Given the description of an element on the screen output the (x, y) to click on. 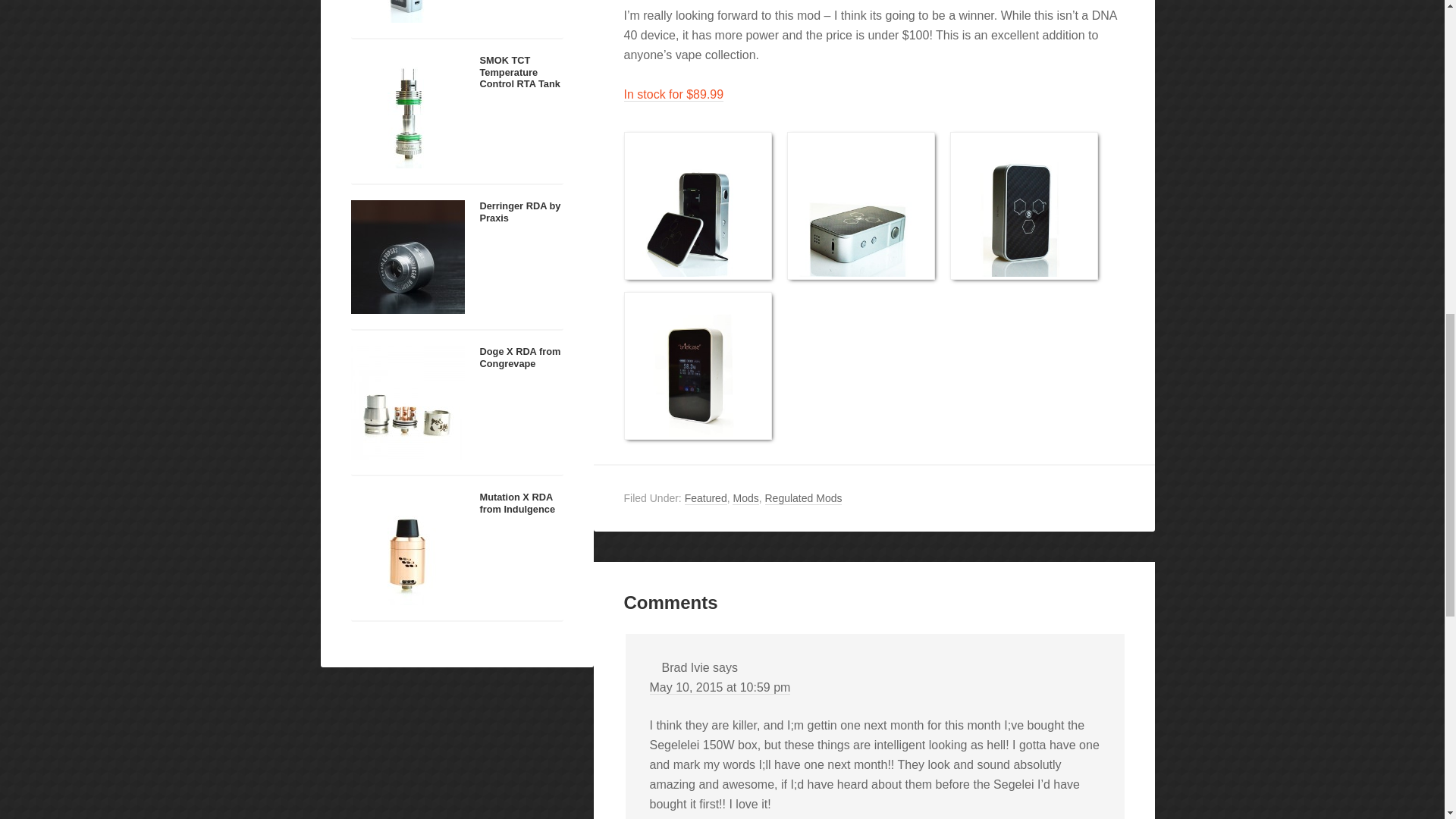
Derringer RDA by Praxis (519, 210)
Featured (705, 498)
SMOK TCT Temperature Control RTA Tank (407, 109)
Regulated Mods (802, 498)
Briefcase from Project Sub-Ohm SMY (1023, 203)
Briefcase from Project Sub-Ohm SMY (697, 364)
Briefcase from Project Sub-Ohm SMY (860, 203)
Doge X RDA from Congrevape (407, 400)
Doge X RDA from Congrevape (519, 356)
Mutation X RDA from Indulgence (407, 546)
Mutation X RDA from Indulgence (516, 502)
May 10, 2015 at 10:59 pm (719, 687)
Briefcase from Project Sub-Ohm SMY (697, 203)
Derringer RDA by Praxis (407, 255)
Mods (745, 498)
